Given the description of an element on the screen output the (x, y) to click on. 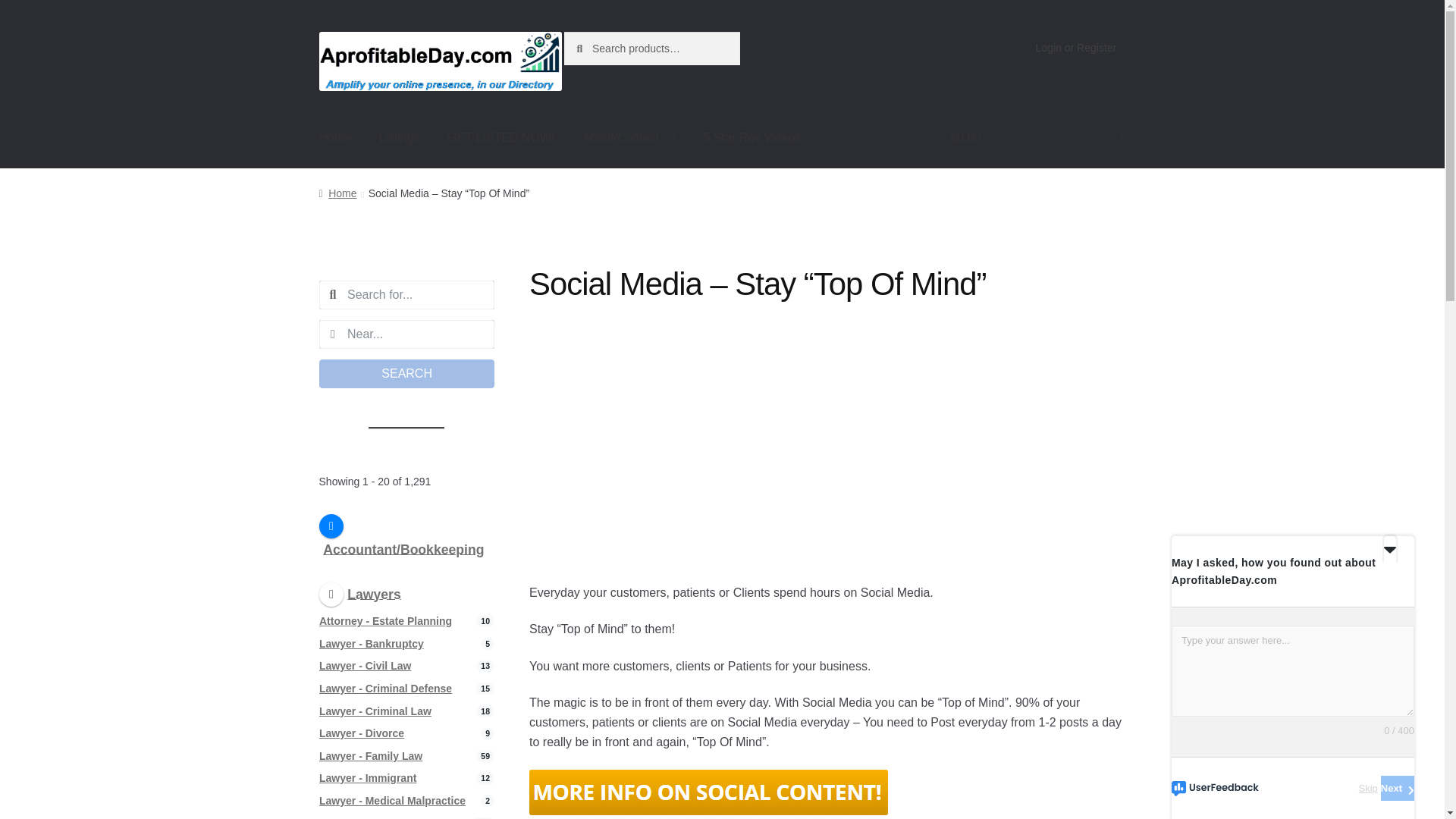
Login or Register (1075, 47)
Lawyer - Divorce (361, 733)
Attorney - Estate Planning (384, 620)
Lawyer - Family Law (370, 755)
Lawyers (359, 592)
Lawyer - Bankruptcy (370, 643)
View your shopping cart (1037, 137)
Lawyer - Civil Law (364, 665)
Lawyer - Criminal Defense (384, 687)
Lawyer - Immigrant (367, 777)
5 Star Rev Videos (760, 137)
 - AProfitableDay.com - Directory Listings (708, 791)
